Given the description of an element on the screen output the (x, y) to click on. 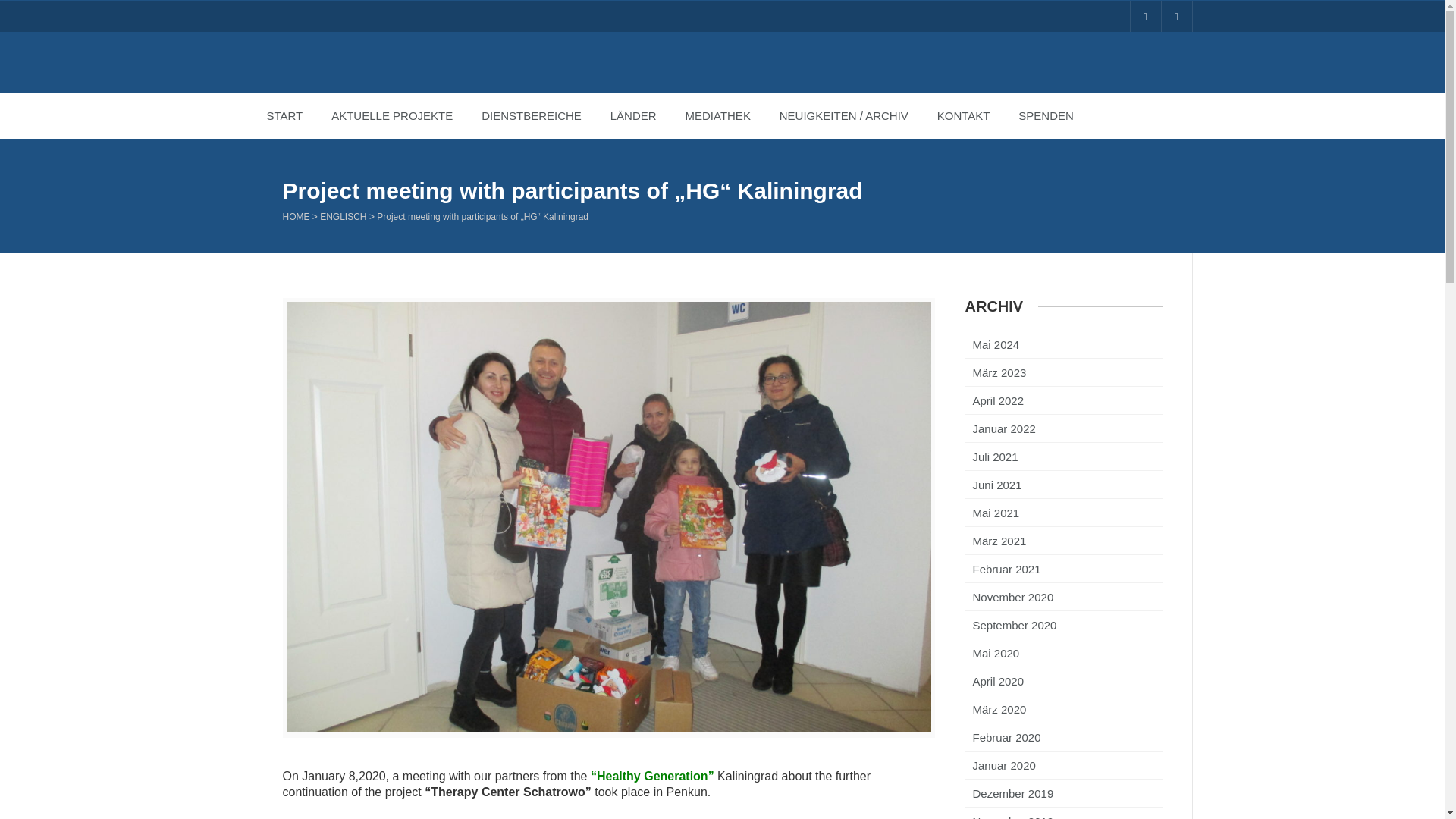
MEDIATHEK (716, 115)
START (284, 115)
DIENSTBEREICHE (531, 115)
Search (22, 8)
AKTUELLE PROJEKTE (392, 115)
